Given the description of an element on the screen output the (x, y) to click on. 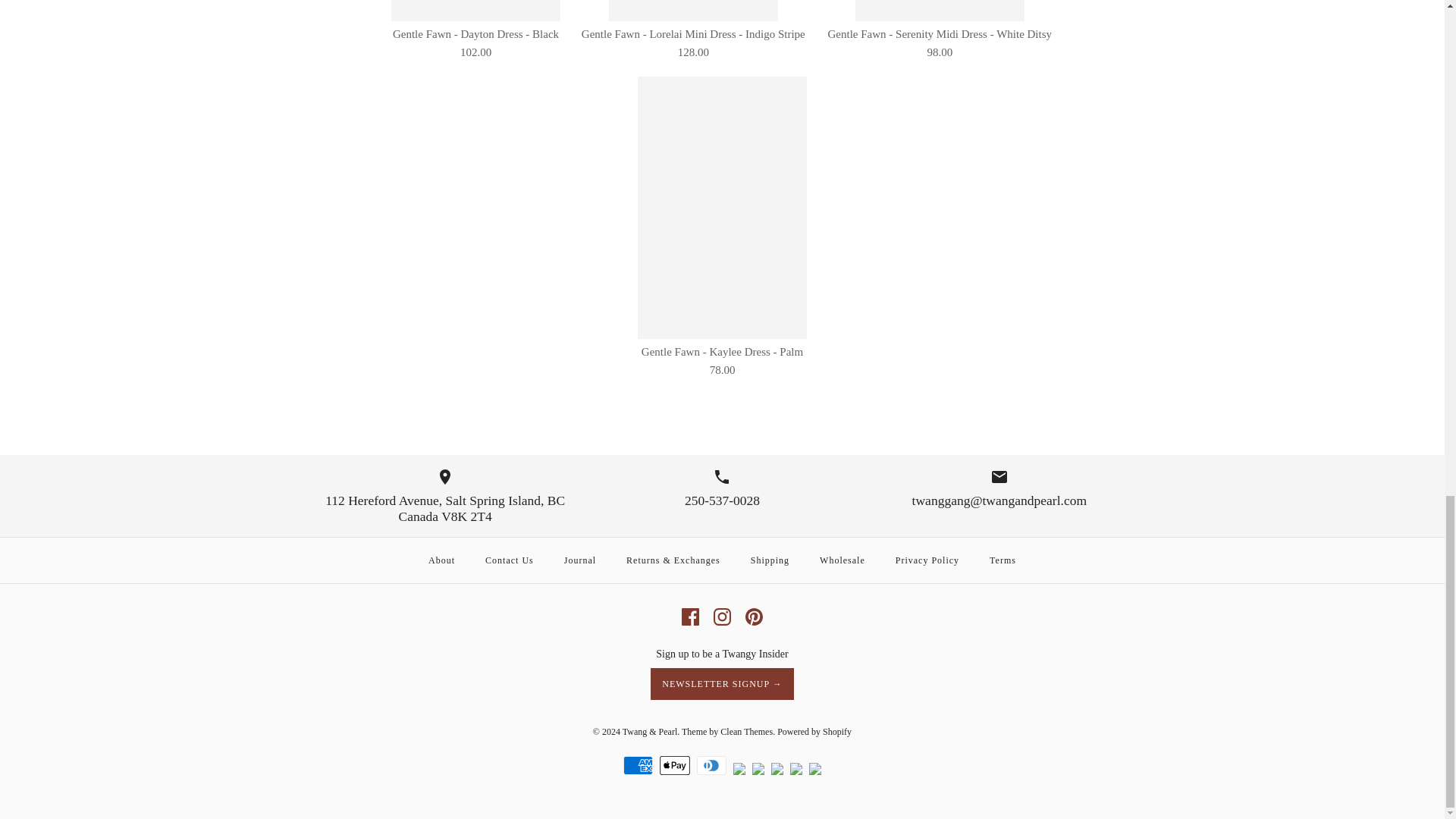
Facebook (689, 616)
Pinterest (753, 616)
Instagram (721, 616)
